Given the description of an element on the screen output the (x, y) to click on. 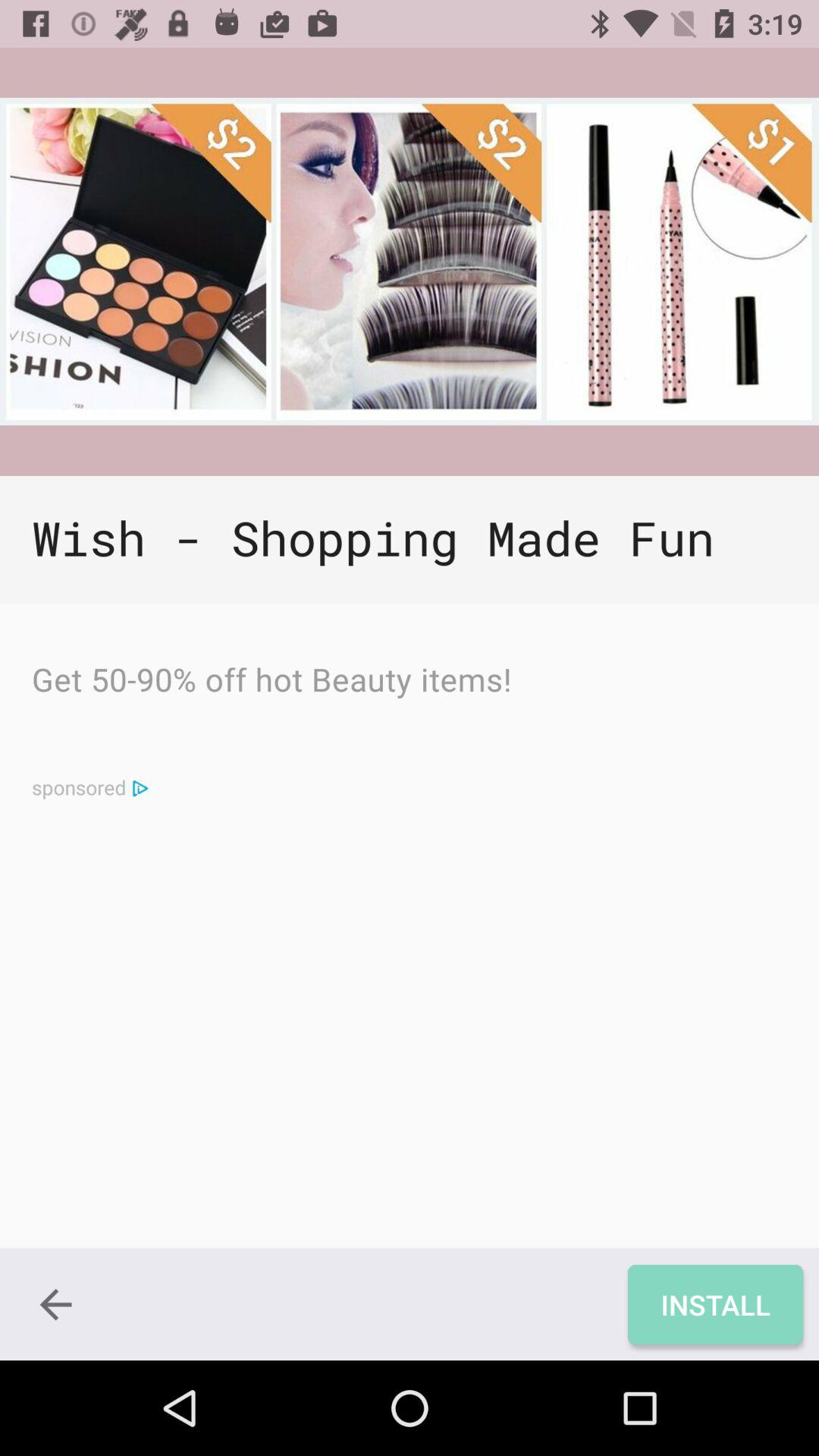
launch item to the right of the sponsored (140, 787)
